Given the description of an element on the screen output the (x, y) to click on. 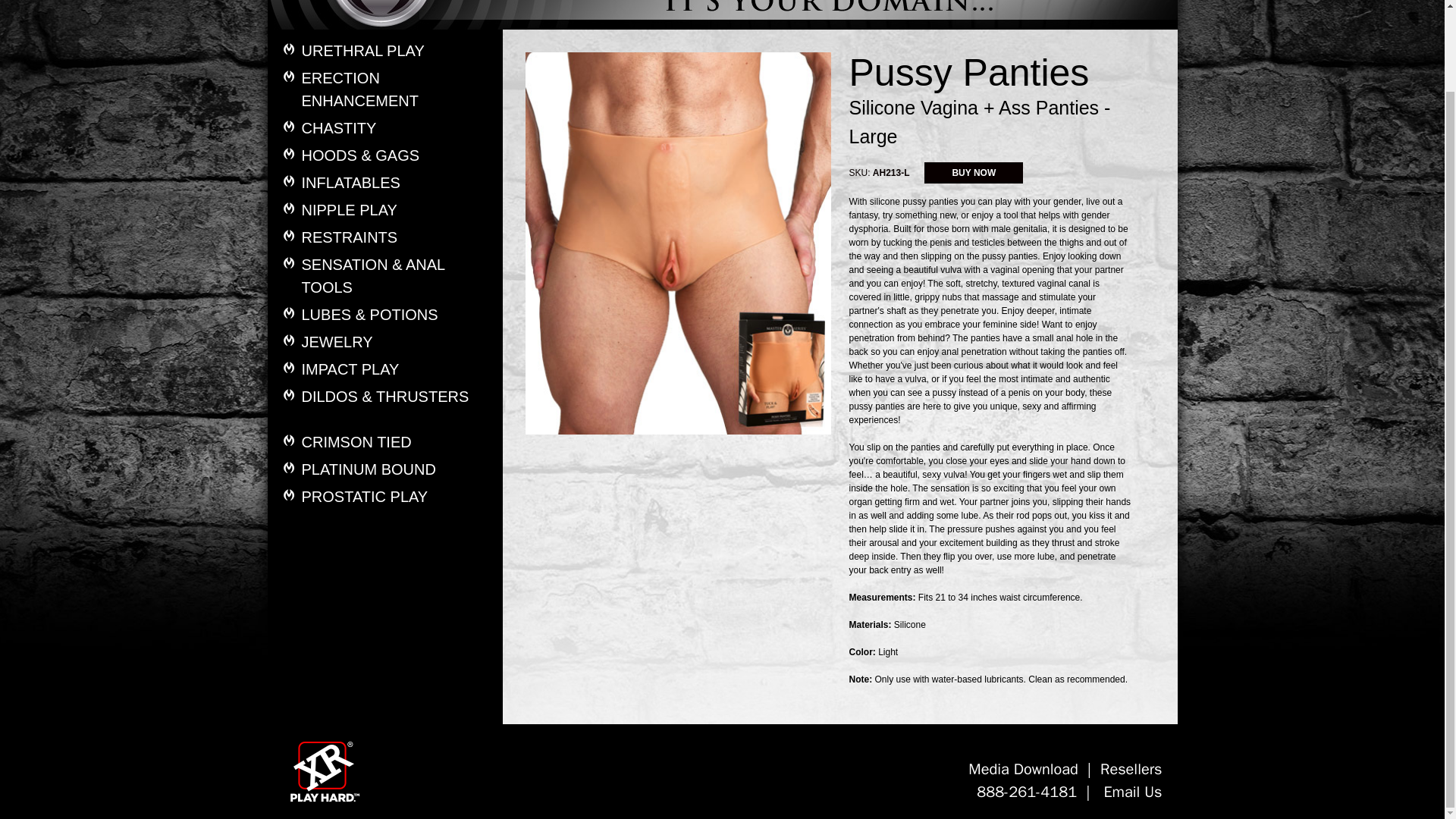
URETHRAL PLAY (396, 50)
Media Download (1023, 769)
IMPACT PLAY (396, 368)
INFLATABLES (396, 182)
BUY NOW (973, 171)
ERECTION ENHANCEMENT (396, 89)
JEWELRY (396, 341)
NIPPLE PLAY (396, 210)
CHASTITY (396, 128)
PLATINUM BOUND (396, 468)
